Given the description of an element on the screen output the (x, y) to click on. 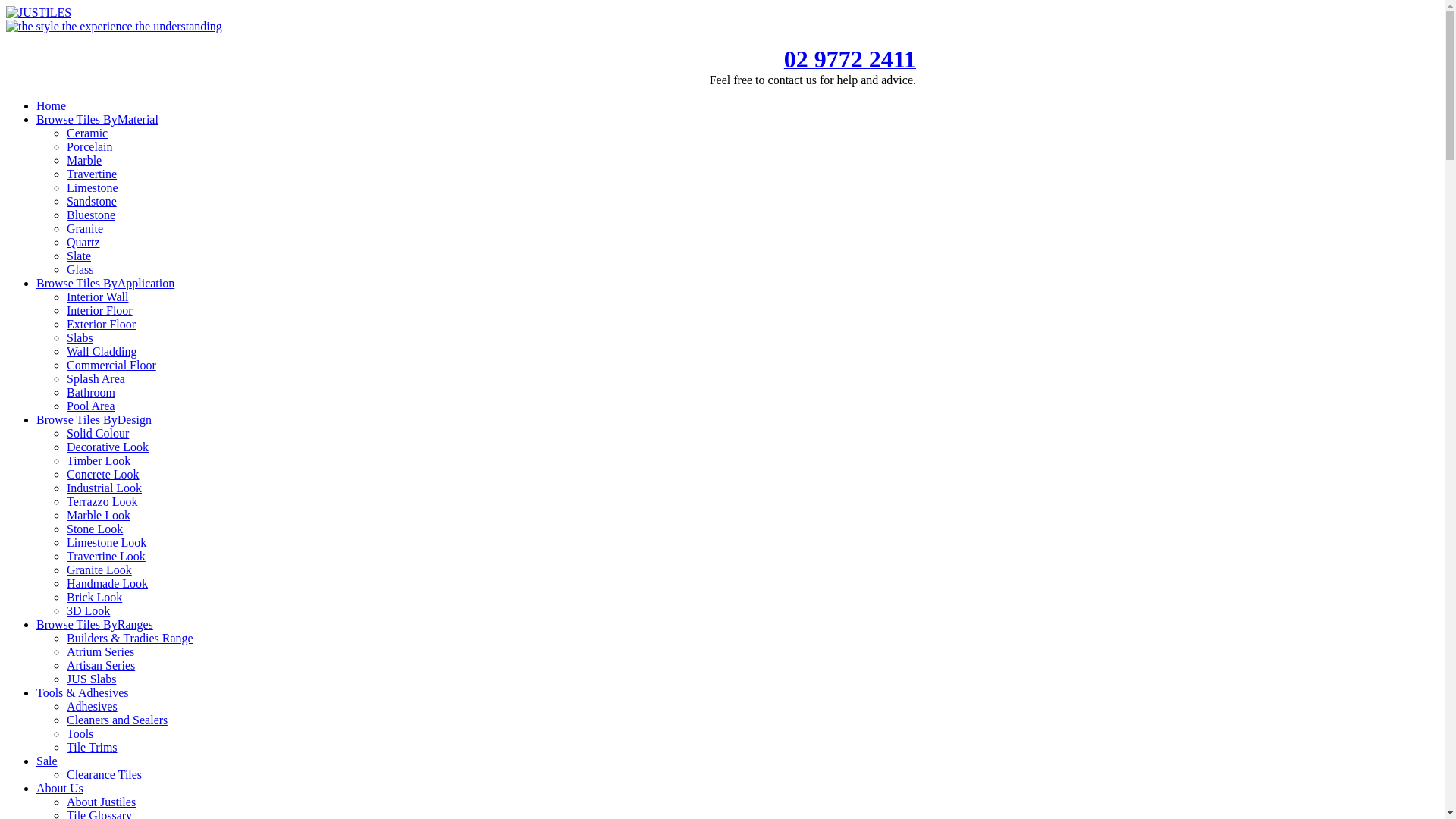
Atrium Series Element type: text (100, 651)
Wall Cladding Element type: text (101, 351)
JUS Slabs Element type: text (91, 678)
Interior Wall Element type: text (97, 296)
Sale Element type: text (46, 760)
Limestone Element type: text (92, 187)
Concrete Look Element type: text (102, 473)
Solid Colour Element type: text (97, 432)
Browse Tiles ByRanges Element type: text (94, 624)
Browse Tiles ByApplication Element type: text (105, 282)
Travertine Look Element type: text (105, 555)
Stone Look Element type: text (94, 528)
Builders & Tradies Range Element type: text (129, 637)
Tools & Adhesives Element type: text (82, 692)
Terrazzo Look Element type: text (102, 501)
Pool Area Element type: text (90, 405)
Tile Trims Element type: text (91, 746)
Cleaners and Sealers Element type: text (116, 719)
Artisan Series Element type: text (100, 664)
Exterior Floor Element type: text (100, 323)
Home Element type: text (50, 105)
About Us Element type: text (59, 787)
Marble Look Element type: text (98, 514)
Marble Element type: text (83, 159)
Granite Element type: text (84, 228)
Industrial Look Element type: text (103, 487)
Commercial Floor Element type: text (111, 364)
Bluestone Element type: text (90, 214)
Sandstone Element type: text (91, 200)
Glass Element type: text (80, 269)
Limestone Look Element type: text (106, 542)
Brick Look Element type: text (94, 596)
Splash Area Element type: text (95, 378)
Decorative Look Element type: text (107, 446)
3D Look Element type: text (87, 610)
Timber Look Element type: text (98, 460)
Handmade Look Element type: text (106, 583)
Porcelain Element type: text (89, 146)
Adhesives Element type: text (91, 705)
Tools Element type: text (79, 733)
Browse Tiles ByDesign Element type: text (93, 419)
Quartz Element type: text (83, 241)
Browse Tiles ByMaterial Element type: text (97, 118)
02 9772 2411 Element type: text (850, 62)
Clearance Tiles Element type: text (103, 774)
Slate Element type: text (78, 255)
Bathroom Element type: text (90, 391)
Ceramic Element type: text (86, 132)
Granite Look Element type: text (98, 569)
About Justiles Element type: text (100, 801)
Slabs Element type: text (79, 337)
Travertine Element type: text (91, 173)
Interior Floor Element type: text (99, 310)
